Given the description of an element on the screen output the (x, y) to click on. 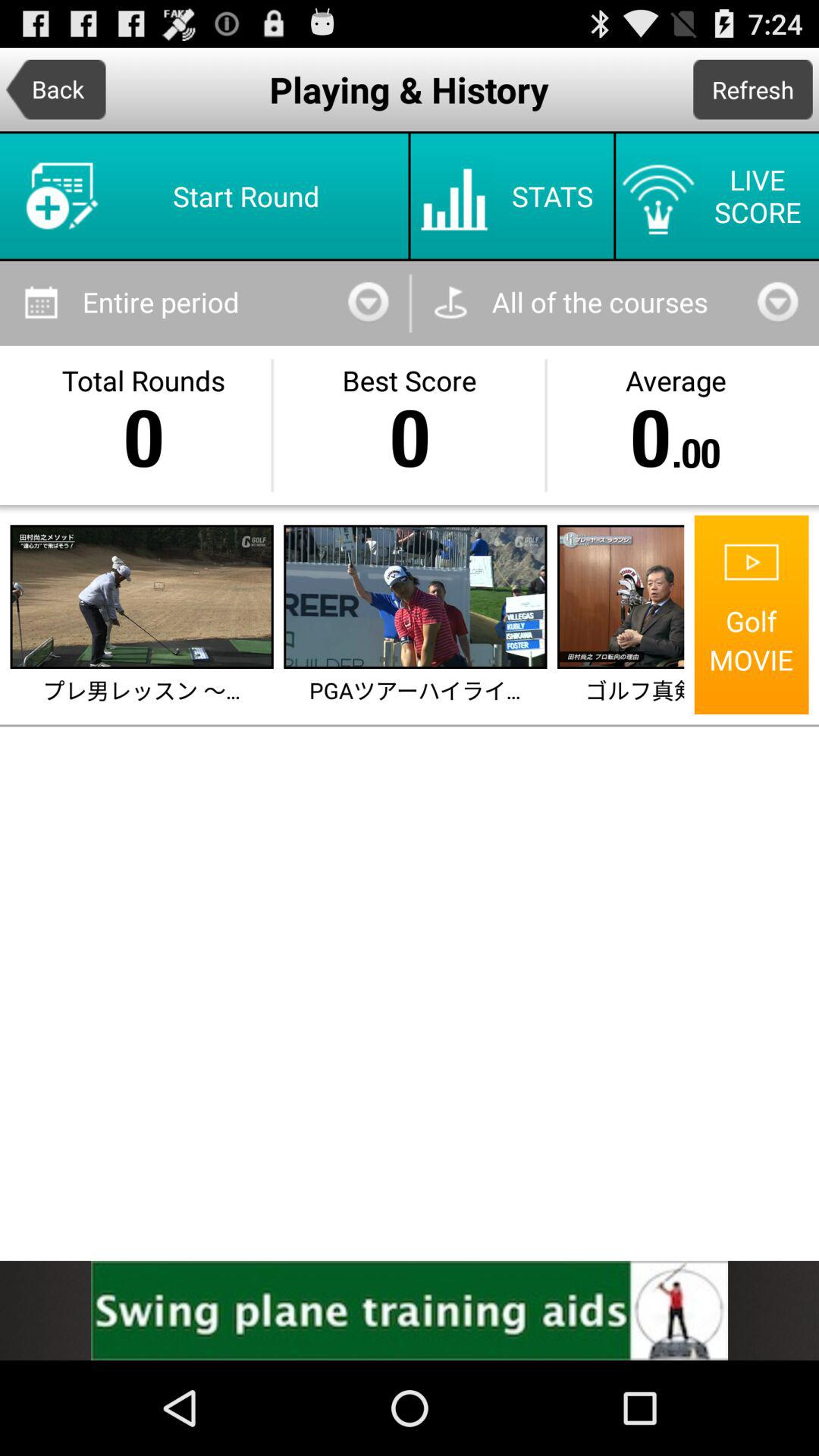
go to play (141, 596)
